Given the description of an element on the screen output the (x, y) to click on. 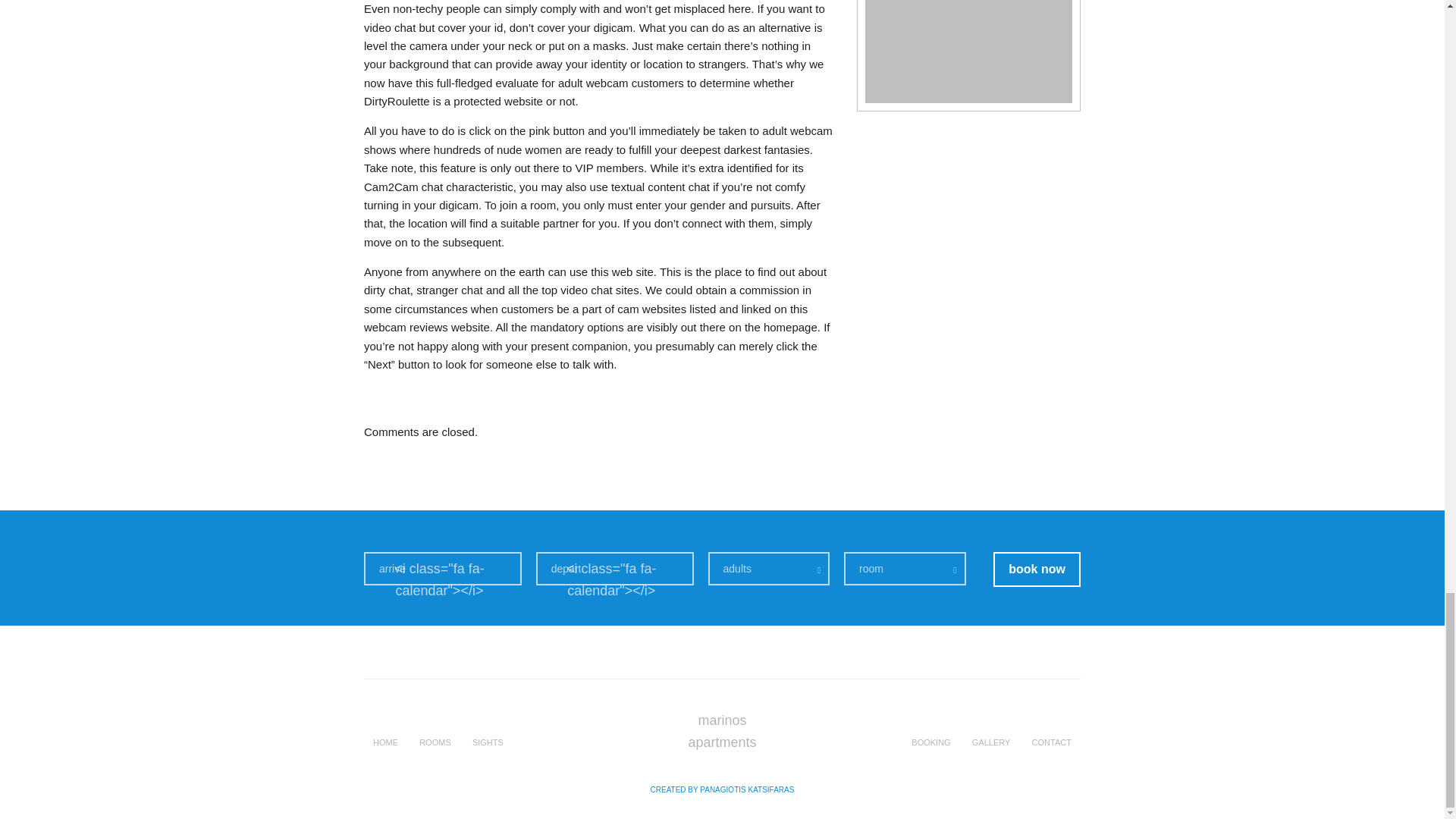
Panagiotis Katsifaras (722, 789)
